Given the description of an element on the screen output the (x, y) to click on. 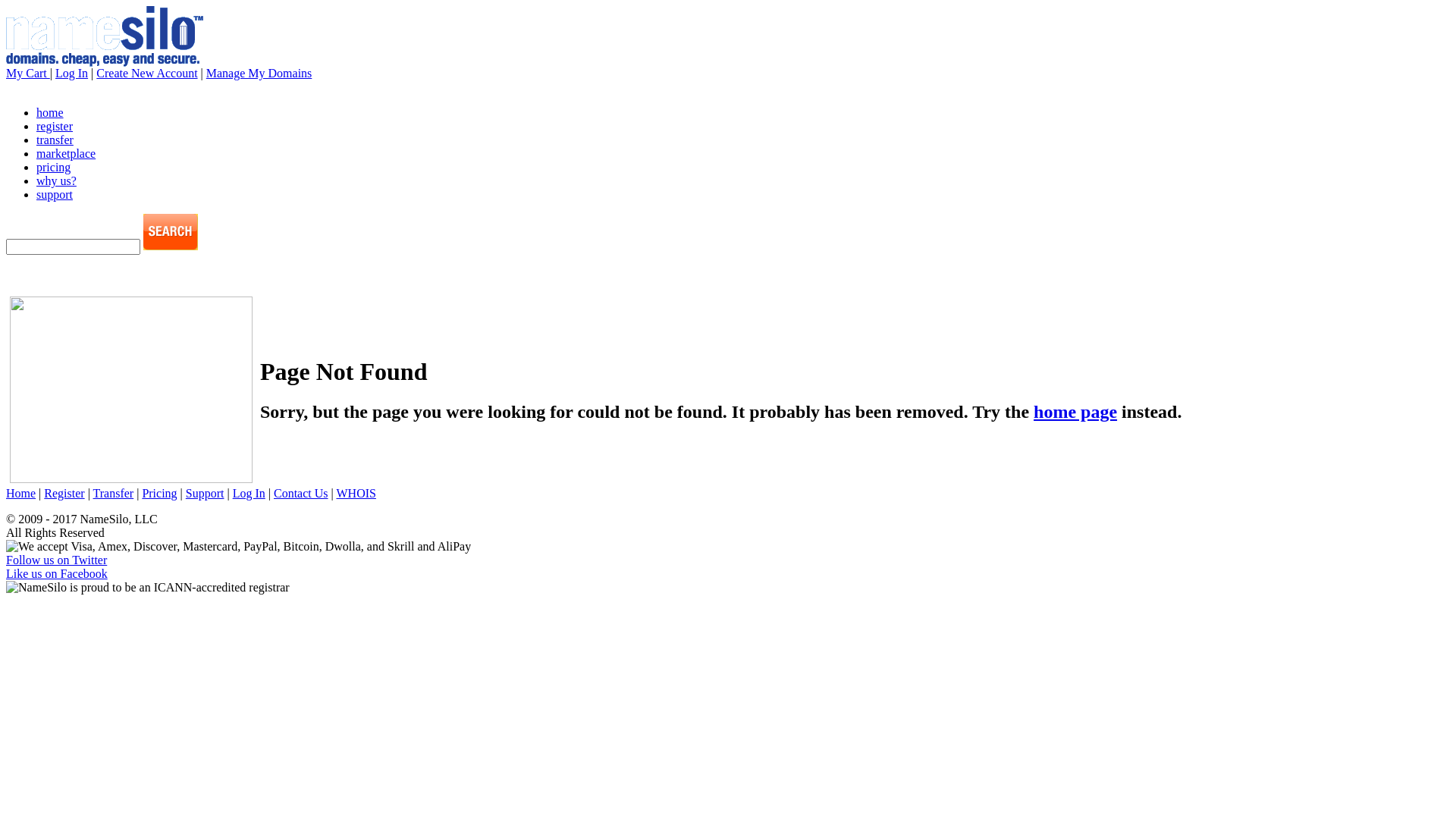
why us? Element type: text (56, 180)
marketplace Element type: text (65, 153)
Contact Us Element type: text (300, 492)
WHOIS Element type: text (355, 492)
support Element type: text (54, 194)
pricing Element type: text (53, 166)
My Cart Element type: text (28, 72)
Log In Element type: text (248, 492)
home Element type: text (49, 112)
Follow us on Twitter Element type: text (56, 559)
Register Element type: text (63, 492)
Transfer Element type: text (113, 492)
NameSilo is proud to be an ICANN-accredited registrar Element type: hover (147, 587)
Like us on Facebook Element type: text (56, 573)
Log In Element type: text (71, 72)
transfer Element type: text (54, 139)
Home Element type: text (20, 492)
Manage My Domains Element type: text (259, 72)
Create New Account Element type: text (146, 72)
Pricing Element type: text (158, 492)
home page Element type: text (1075, 411)
register Element type: text (54, 125)
Support Element type: text (204, 492)
